Given the description of an element on the screen output the (x, y) to click on. 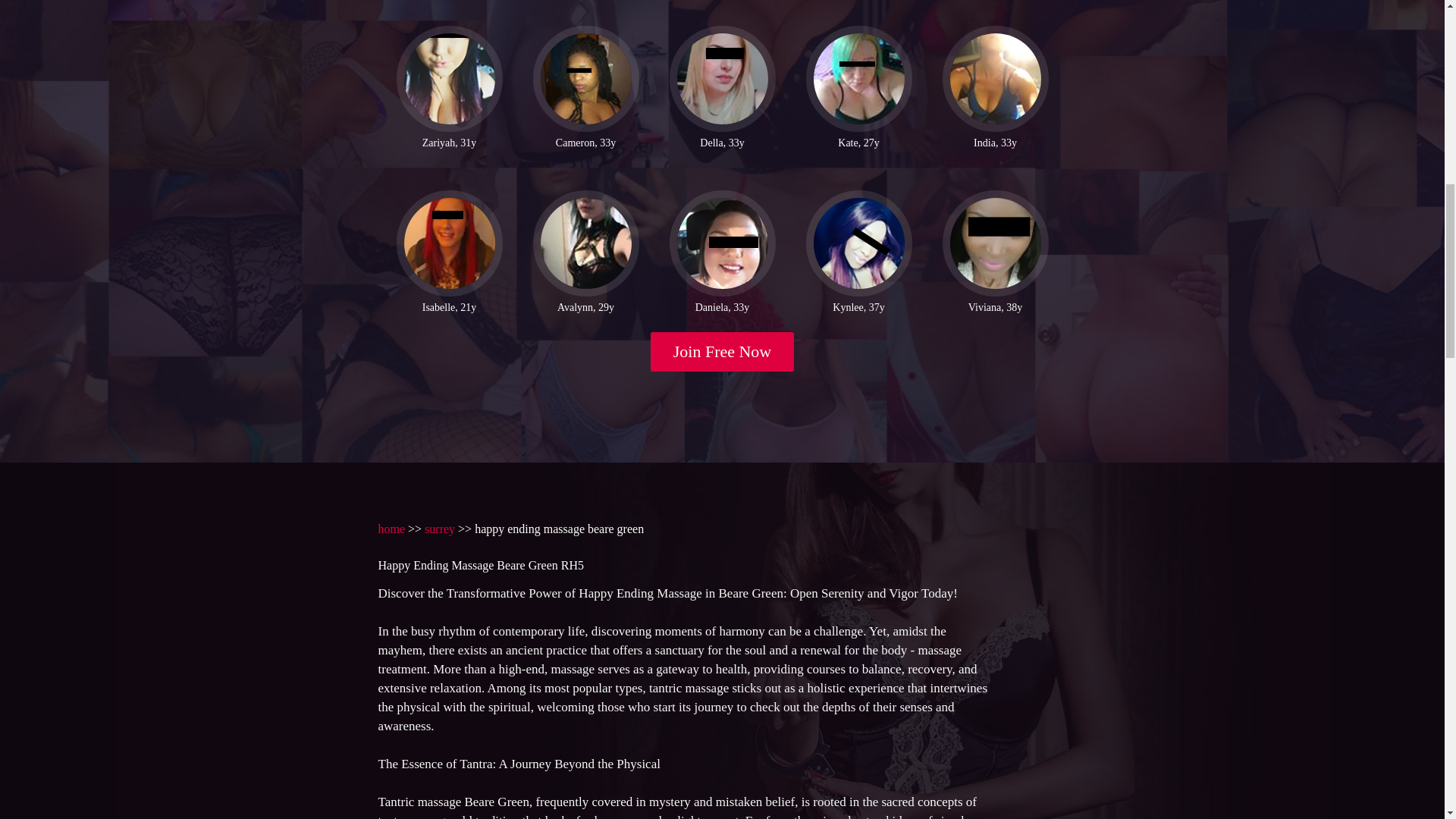
Join (722, 351)
surrey (439, 528)
Join Free Now (722, 351)
home (390, 528)
